Given the description of an element on the screen output the (x, y) to click on. 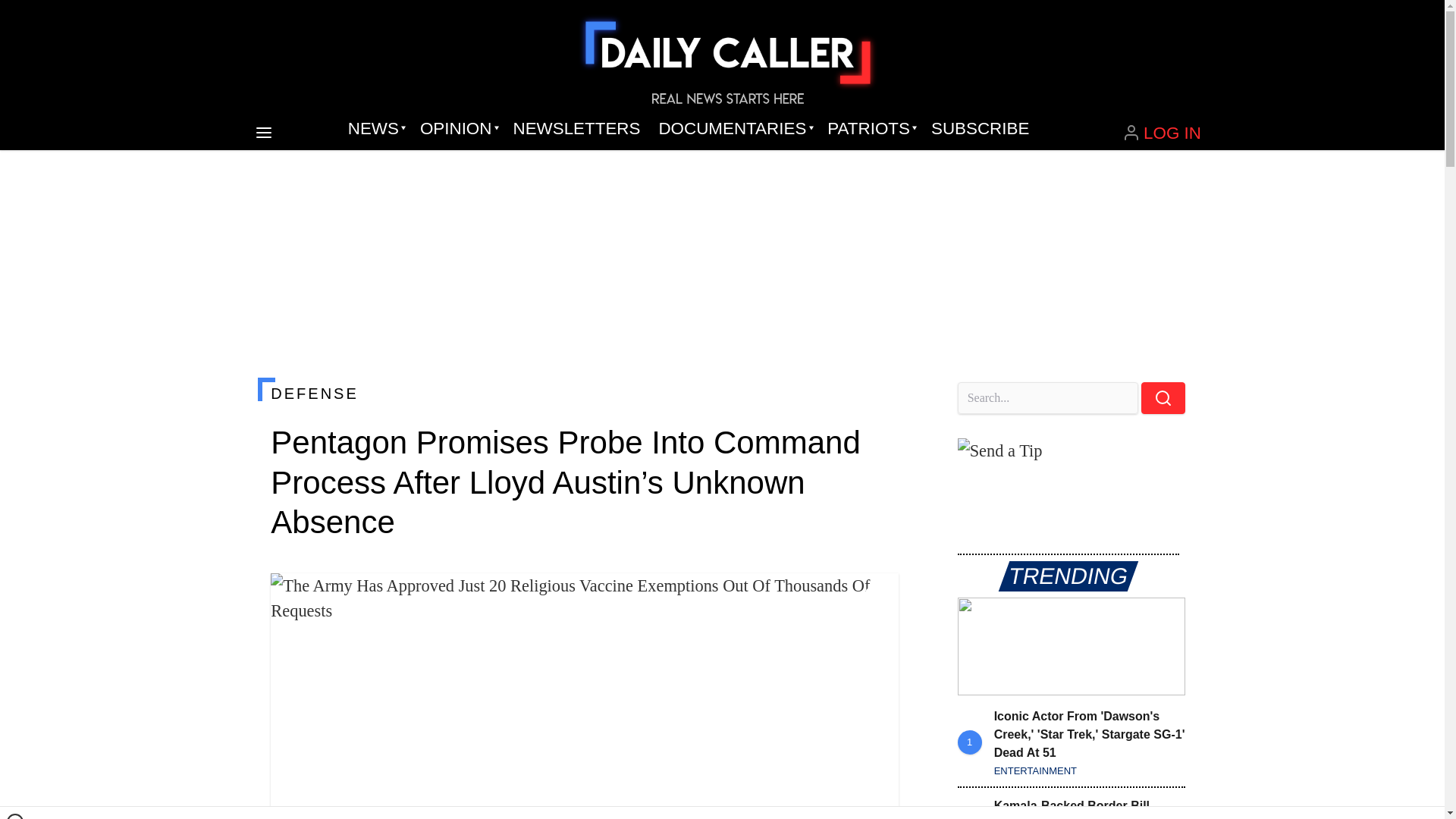
OPINION (456, 128)
PATRIOTS (869, 128)
NEWSLETTERS (576, 128)
Toggle fullscreen (874, 596)
DOCUMENTARIES (733, 128)
SUBSCRIBE (979, 128)
DEFENSE (584, 393)
NEWS (374, 128)
Close window (14, 816)
